Given the description of an element on the screen output the (x, y) to click on. 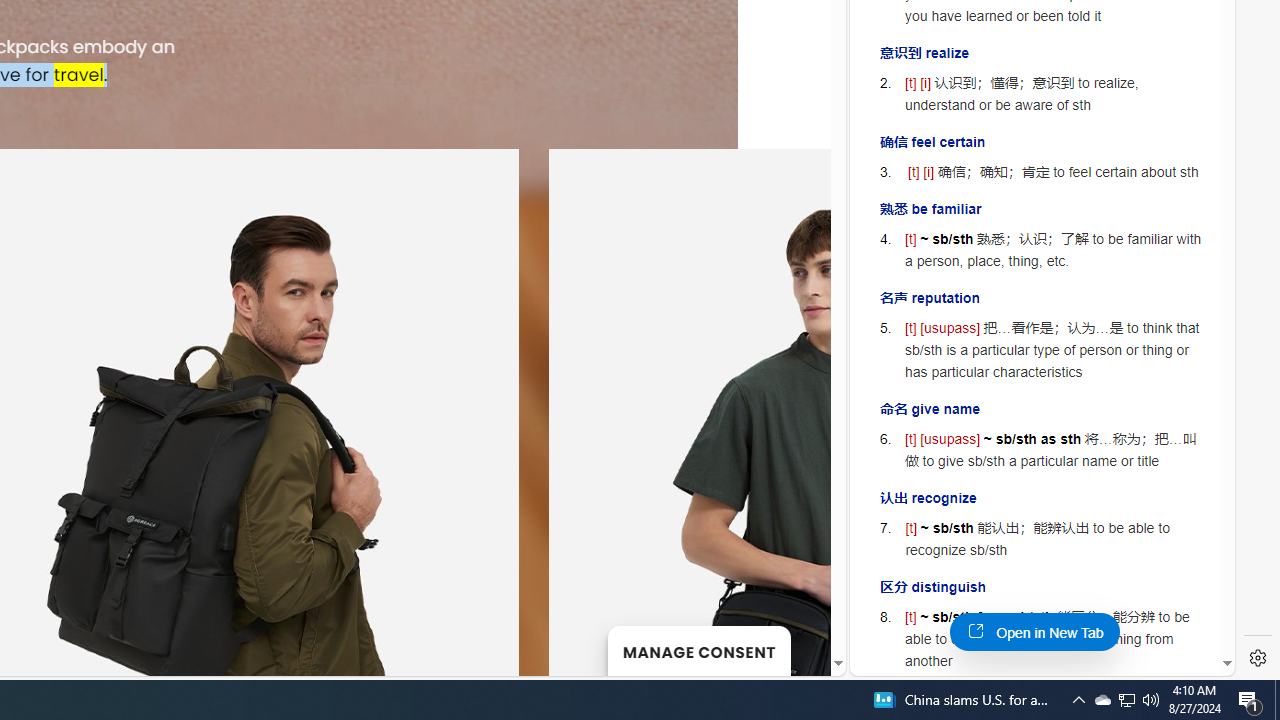
MANAGE CONSENT (698, 650)
